Given the description of an element on the screen output the (x, y) to click on. 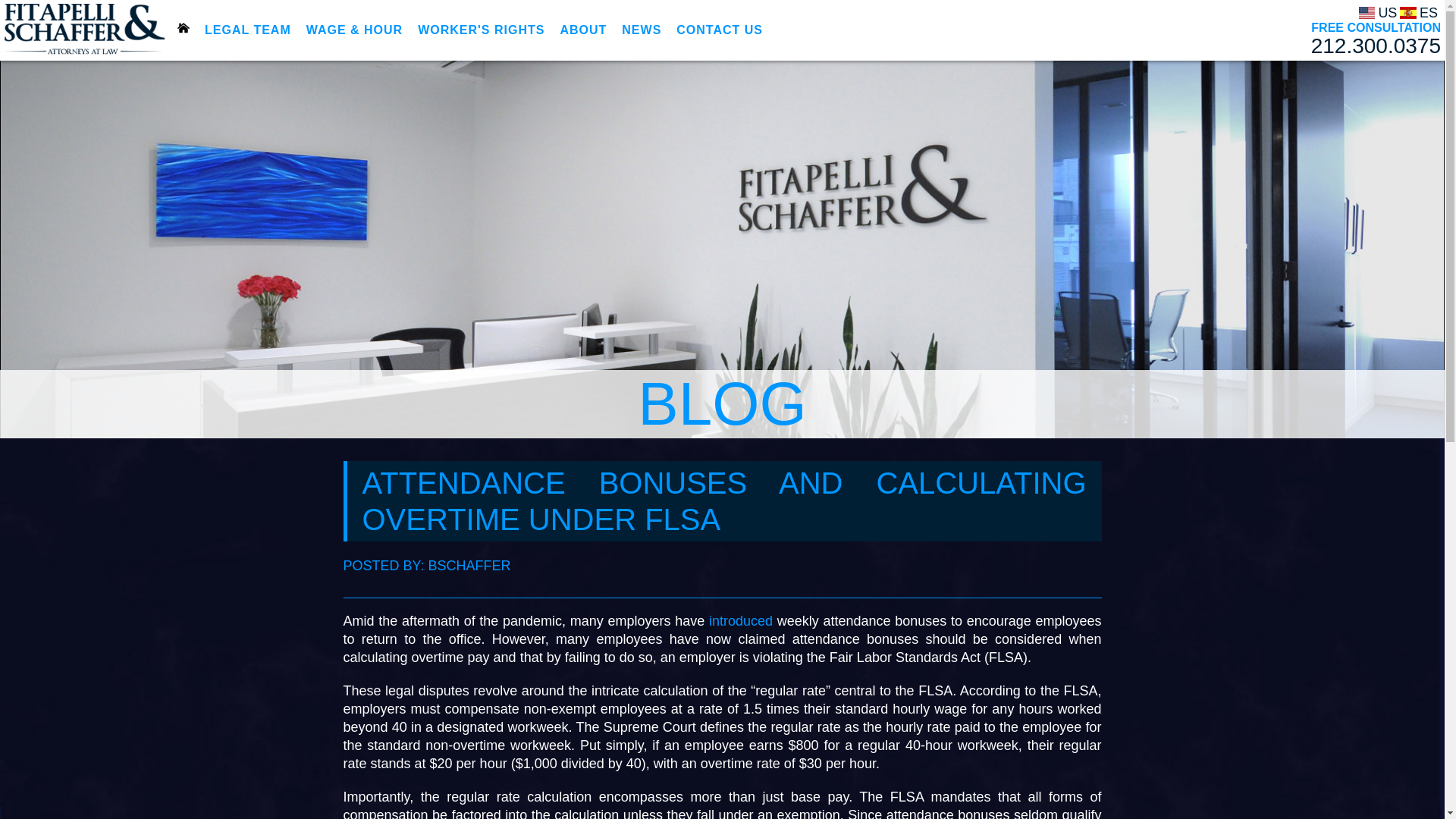
WORKER'S RIGHTS (480, 30)
Our Legal Team (247, 30)
ES (1418, 11)
212.300.0375 (1376, 46)
Call for a free consultation (1376, 46)
LEGAL TEAM (247, 30)
US (1376, 30)
English (1377, 11)
